Given the description of an element on the screen output the (x, y) to click on. 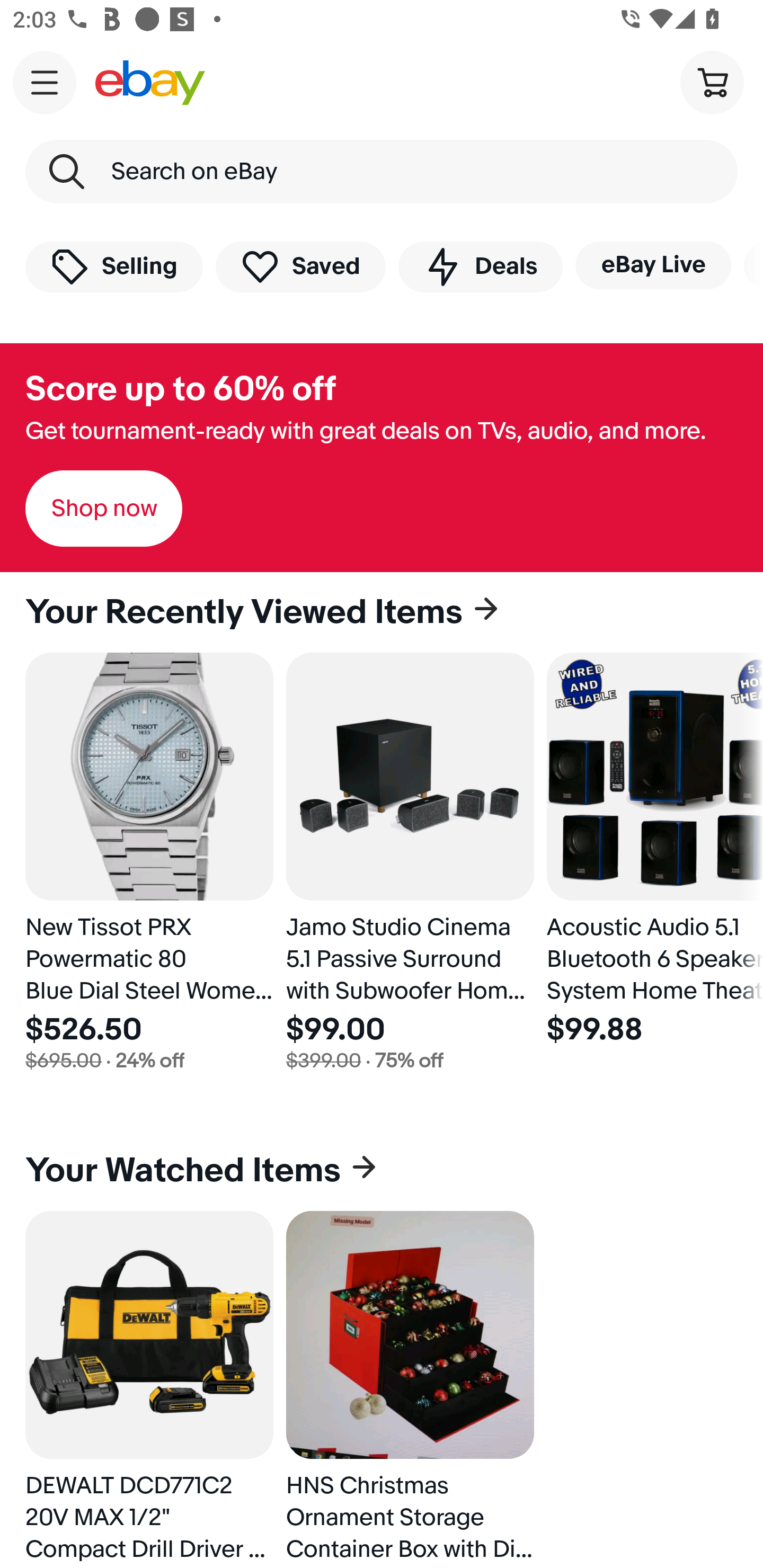
Main navigation, open (44, 82)
Cart button shopping cart (711, 81)
Search on eBay Search Keyword Search on eBay (381, 171)
Selling (113, 266)
Saved (300, 266)
Deals (480, 266)
eBay Live (652, 264)
Score up to 60% off (180, 389)
Shop now (103, 508)
Your Recently Viewed Items   (381, 612)
Your Watched Items   (381, 1170)
